Given the description of an element on the screen output the (x, y) to click on. 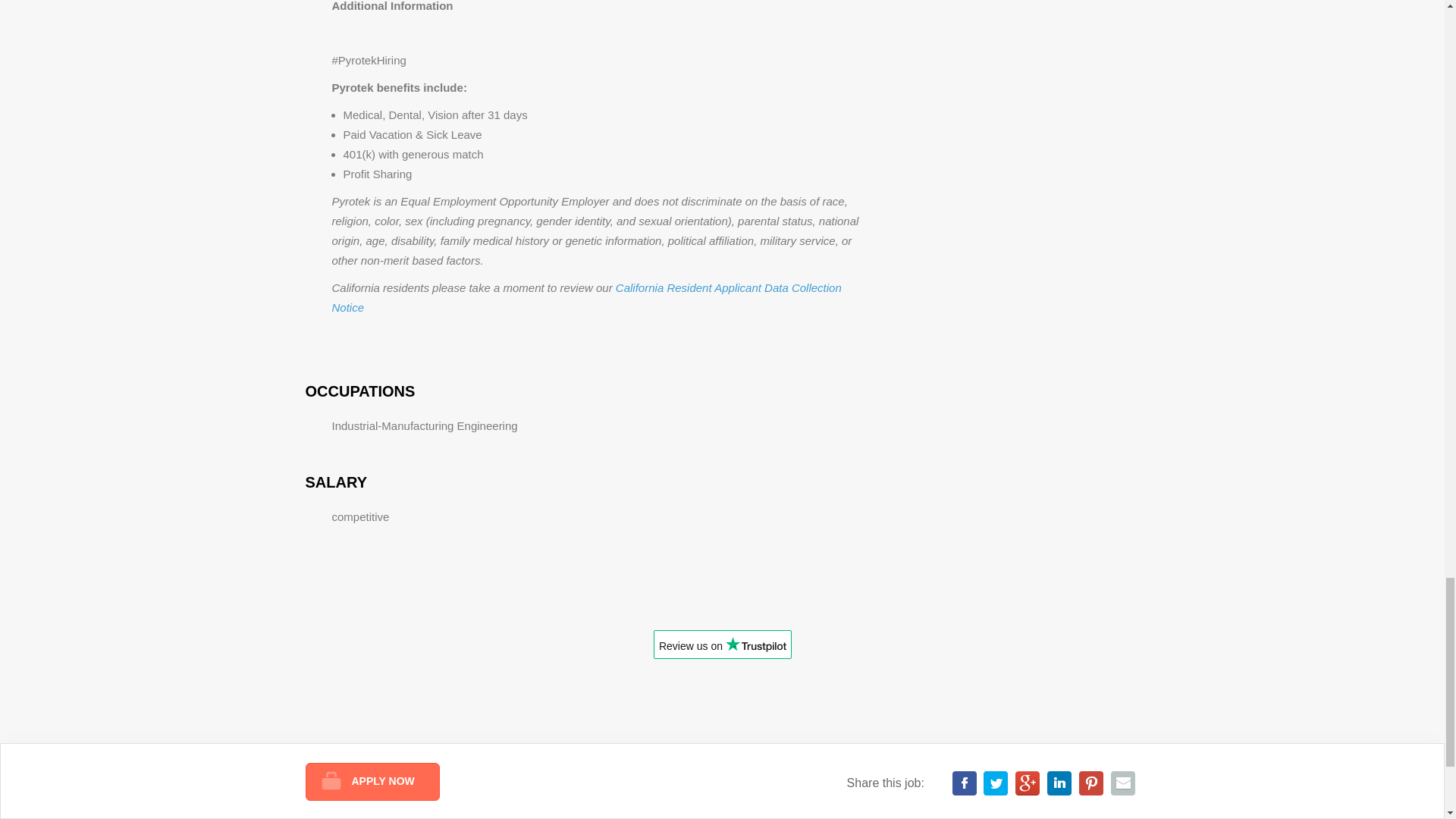
California Resident Applicant Data Collection Notice (586, 297)
Customer reviews powered by Trustpilot (721, 649)
